Given the description of an element on the screen output the (x, y) to click on. 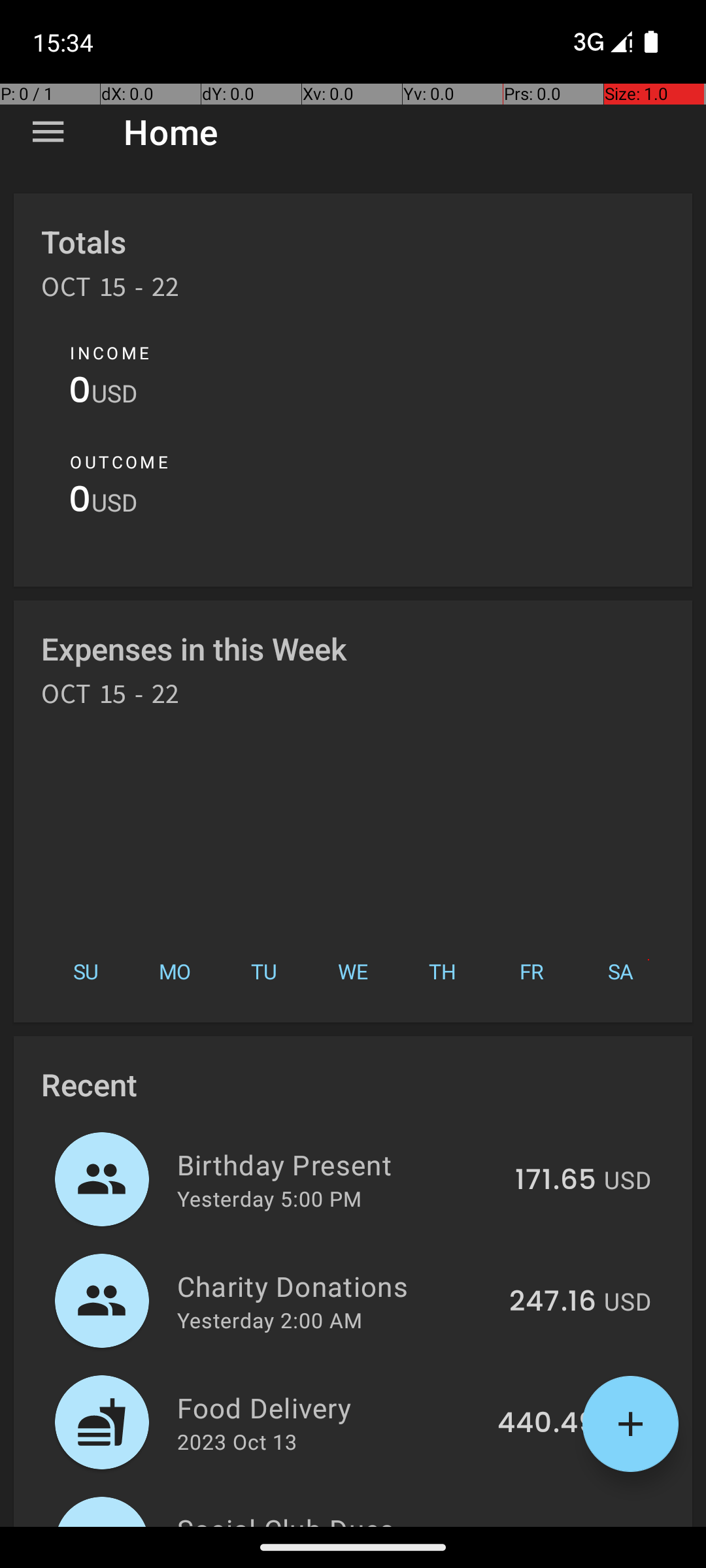
Birthday Present Element type: android.widget.TextView (338, 1164)
Yesterday 5:00 PM Element type: android.widget.TextView (269, 1198)
171.65 Element type: android.widget.TextView (555, 1180)
Charity Donations Element type: android.widget.TextView (335, 1285)
Yesterday 2:00 AM Element type: android.widget.TextView (269, 1320)
247.16 Element type: android.widget.TextView (552, 1301)
Food Delivery Element type: android.widget.TextView (329, 1407)
440.49 Element type: android.widget.TextView (546, 1423)
Social Club Dues Element type: android.widget.TextView (332, 1518)
373.43 Element type: android.widget.TextView (549, 1524)
